Given the description of an element on the screen output the (x, y) to click on. 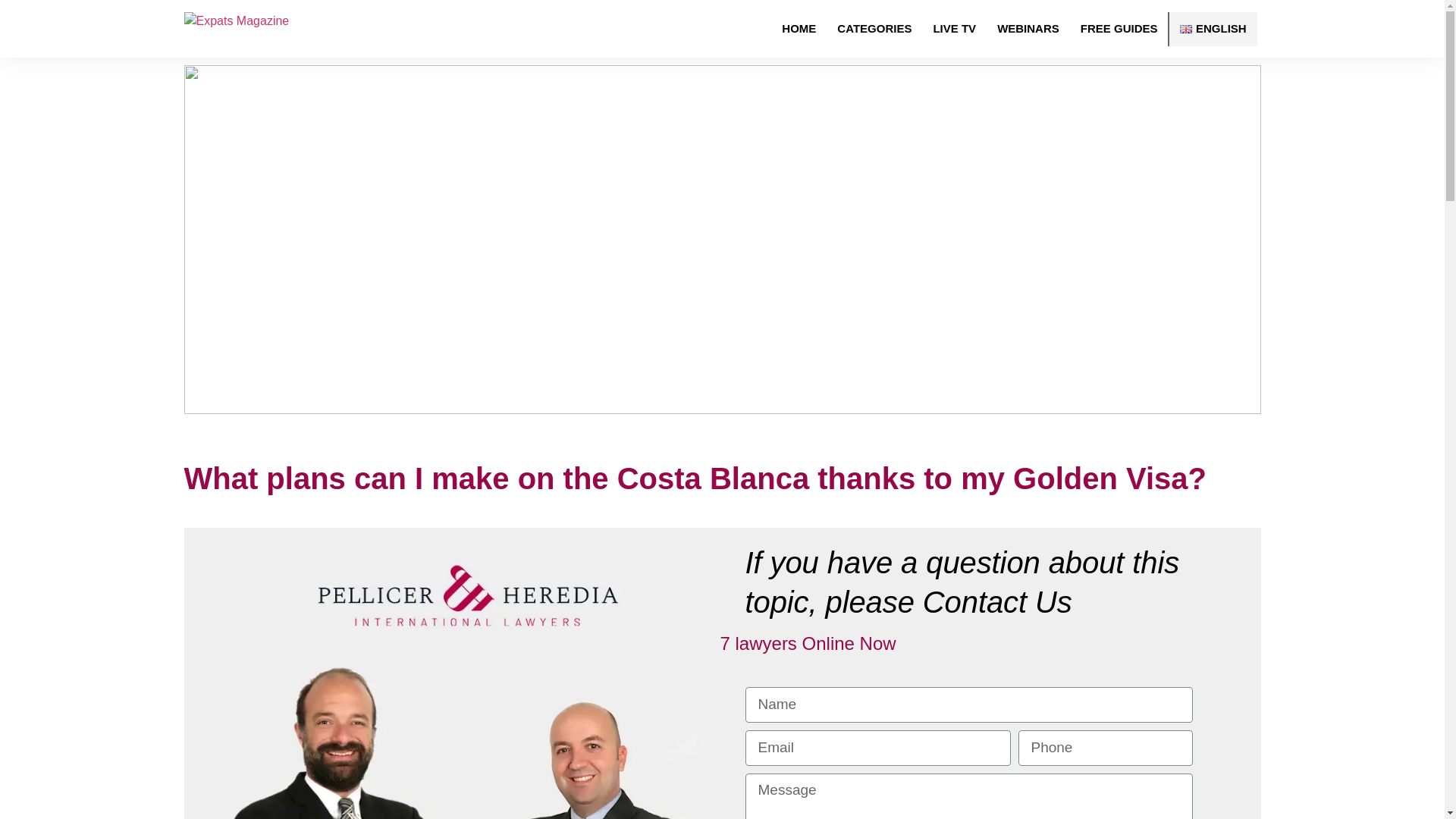
CATEGORIES (874, 28)
LIVE TV (954, 28)
FREE GUIDES (1119, 28)
ENGLISH (1212, 28)
WEBINARS (1028, 28)
HOME (799, 28)
